Given the description of an element on the screen output the (x, y) to click on. 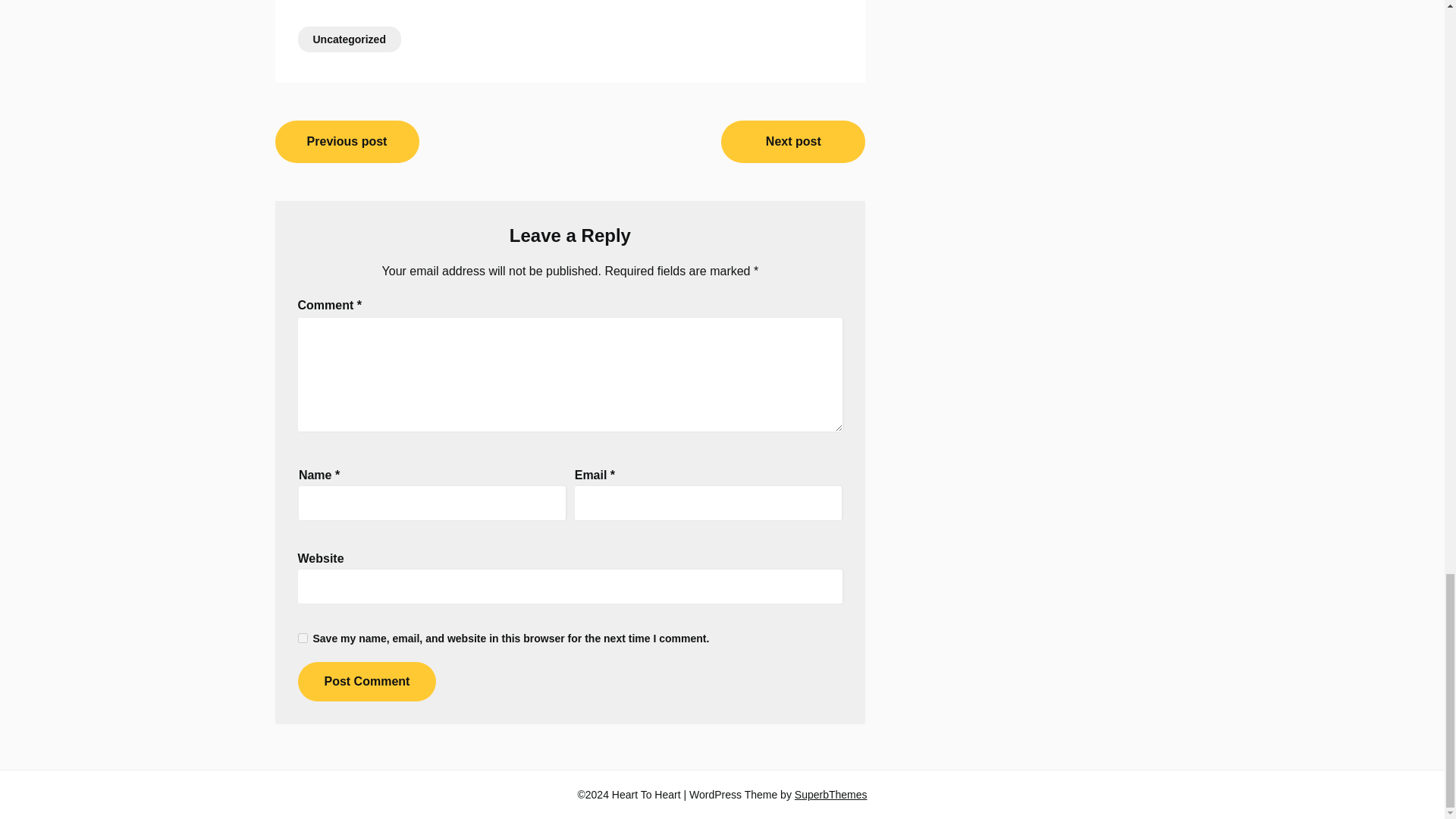
Post Comment (366, 681)
Uncategorized (348, 39)
Next post (792, 141)
yes (302, 637)
Previous post (347, 141)
Post Comment (366, 681)
